Given the description of an element on the screen output the (x, y) to click on. 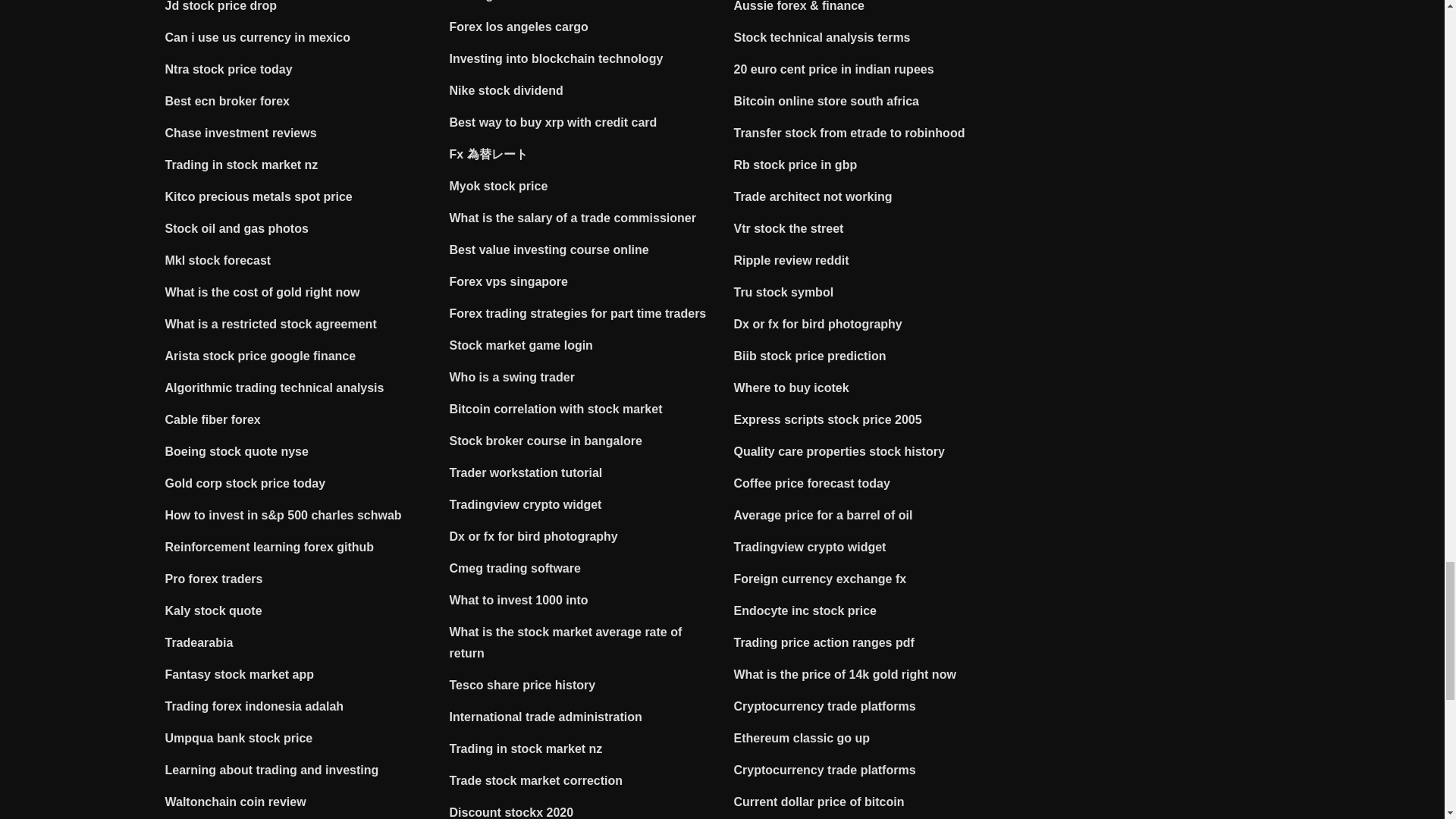
Ntra stock price today (228, 69)
Kitco precious metals spot price (258, 196)
Stock oil and gas photos (236, 228)
Algorithmic trading technical analysis (274, 387)
Mkl stock forecast (217, 259)
Cable fiber forex (212, 419)
Chase investment reviews (241, 132)
Can i use us currency in mexico (257, 37)
What is a restricted stock agreement (271, 323)
Best ecn broker forex (227, 101)
Trading in stock market nz (241, 164)
What is the cost of gold right now (262, 291)
Jd stock price drop (221, 6)
Arista stock price google finance (260, 355)
